Given the description of an element on the screen output the (x, y) to click on. 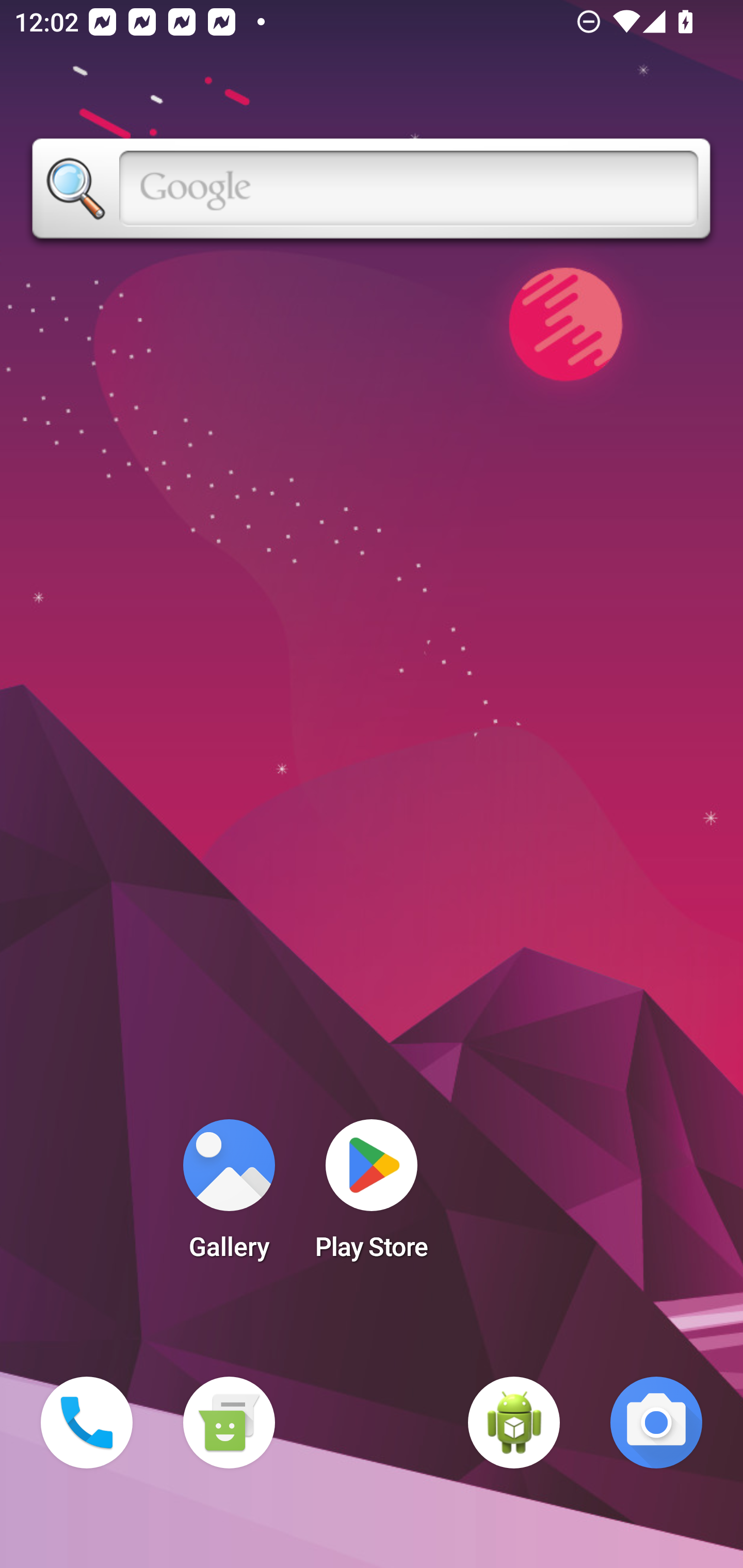
Gallery (228, 1195)
Play Store (371, 1195)
Phone (86, 1422)
Messaging (228, 1422)
WebView Browser Tester (513, 1422)
Camera (656, 1422)
